Given the description of an element on the screen output the (x, y) to click on. 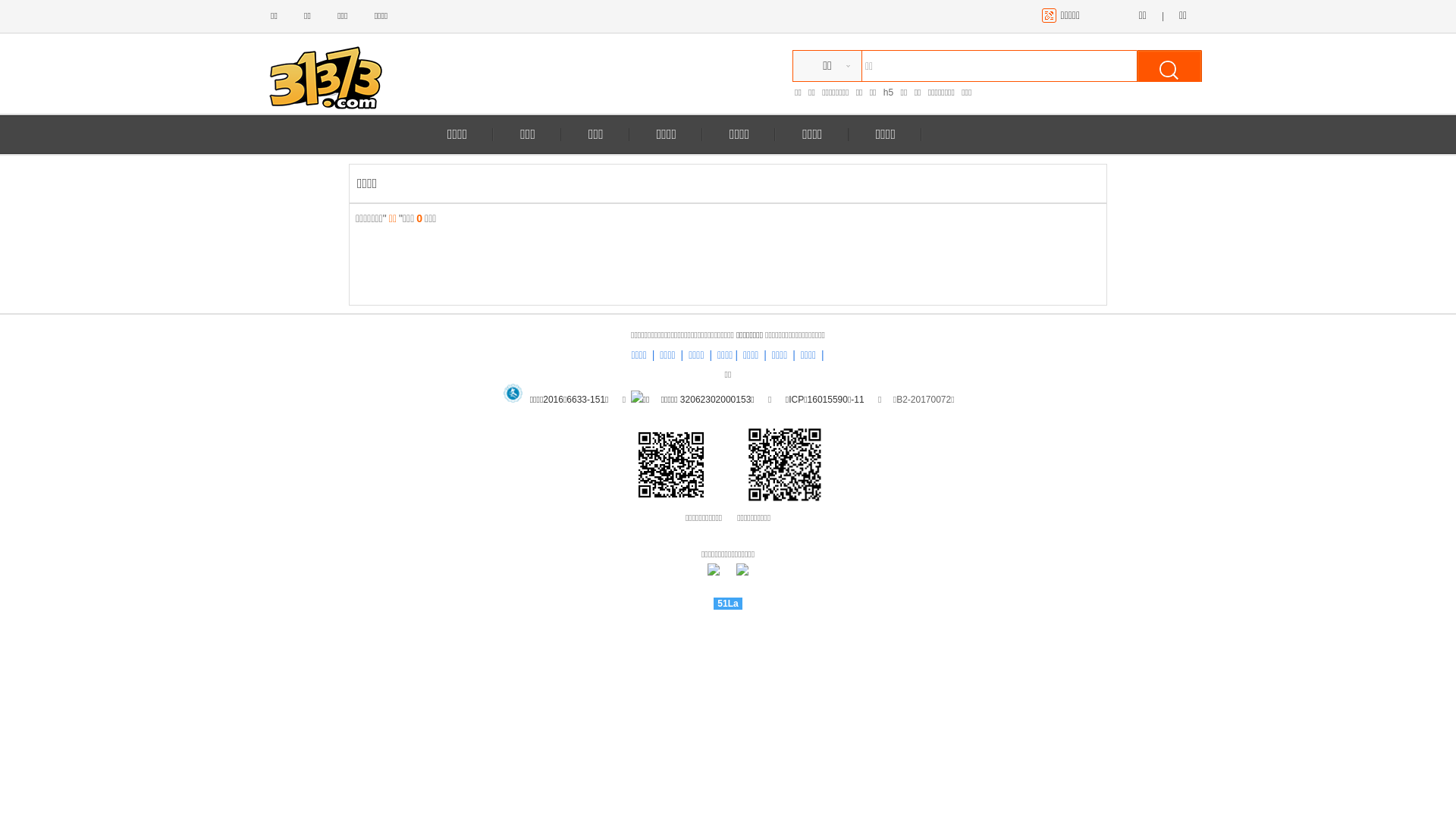
h5 Element type: text (888, 92)
51La Element type: text (727, 603)
